Given the description of an element on the screen output the (x, y) to click on. 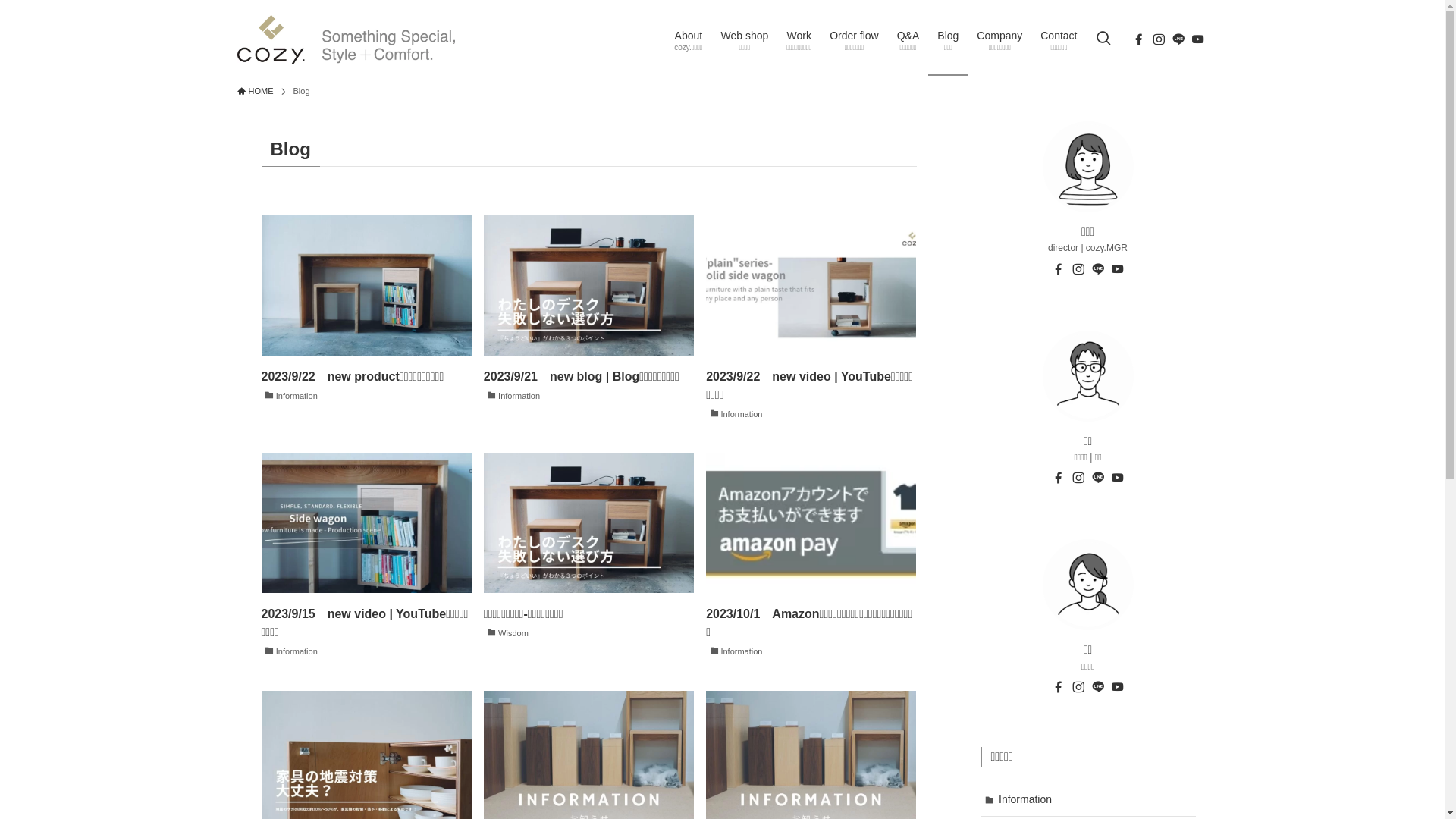
Information Element type: text (1087, 800)
search Element type: text (921, 421)
HOME Element type: text (254, 91)
